Given the description of an element on the screen output the (x, y) to click on. 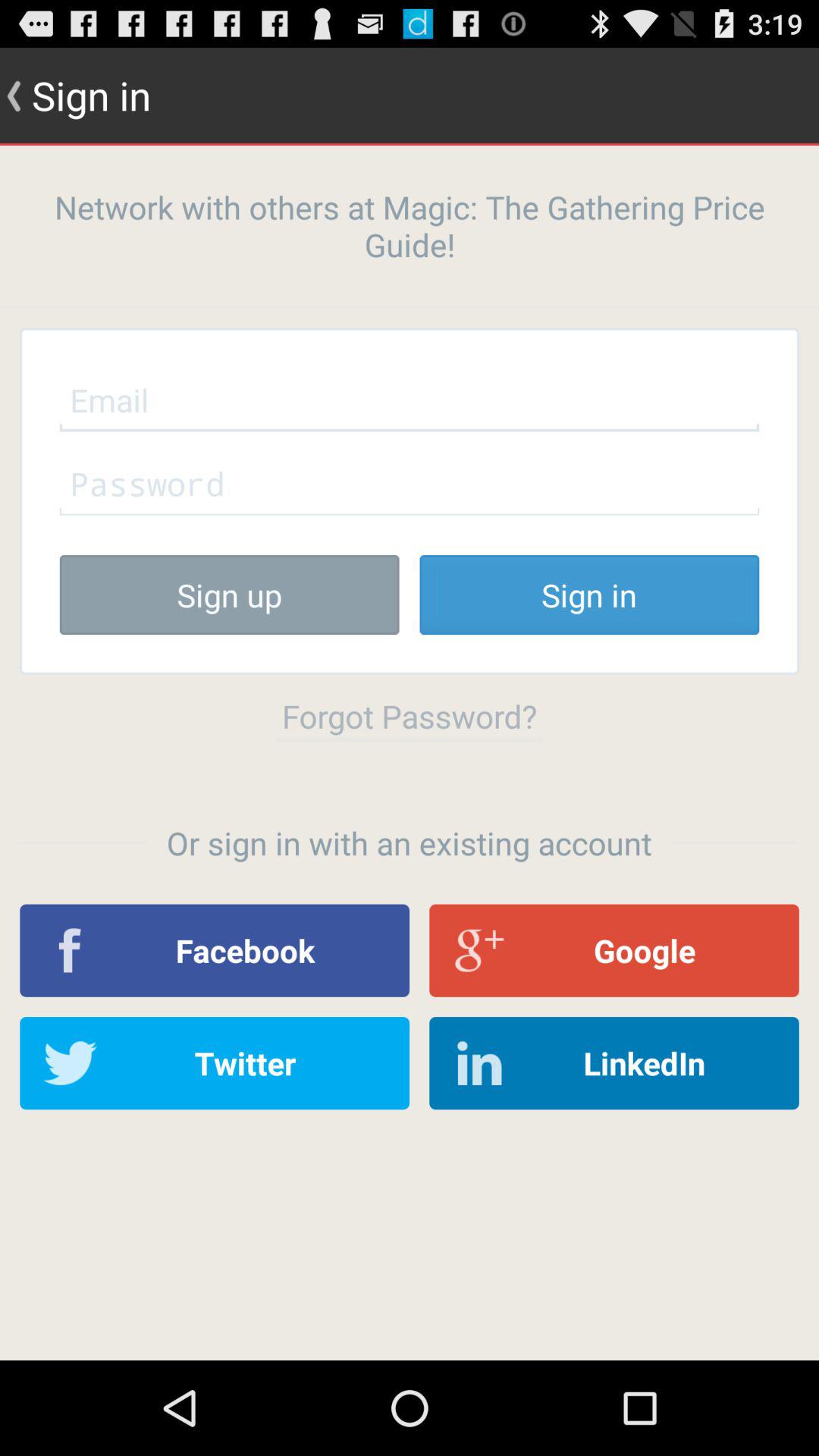
scroll to linkedin (614, 1062)
